Given the description of an element on the screen output the (x, y) to click on. 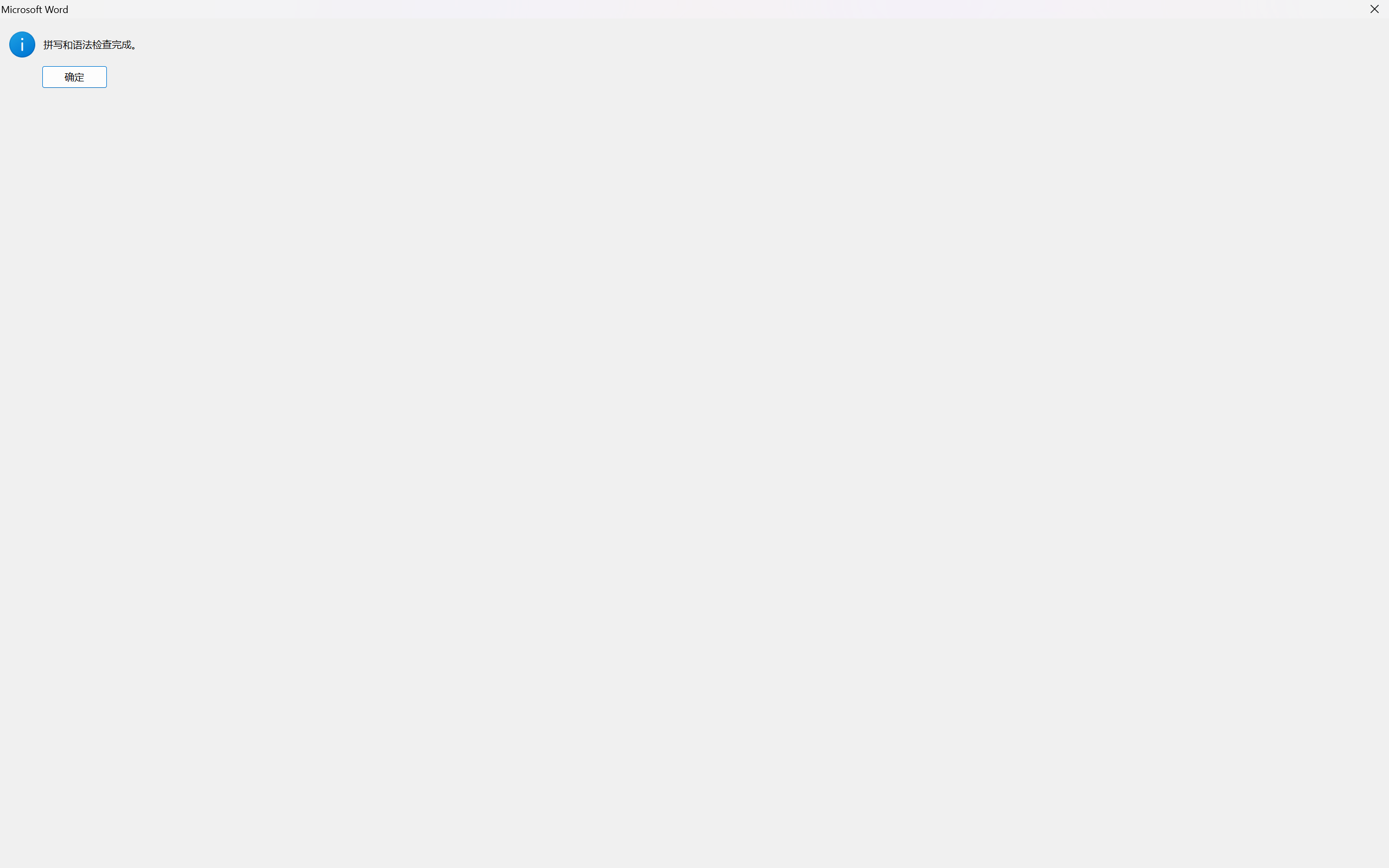
Class: Static (21, 44)
